Given the description of an element on the screen output the (x, y) to click on. 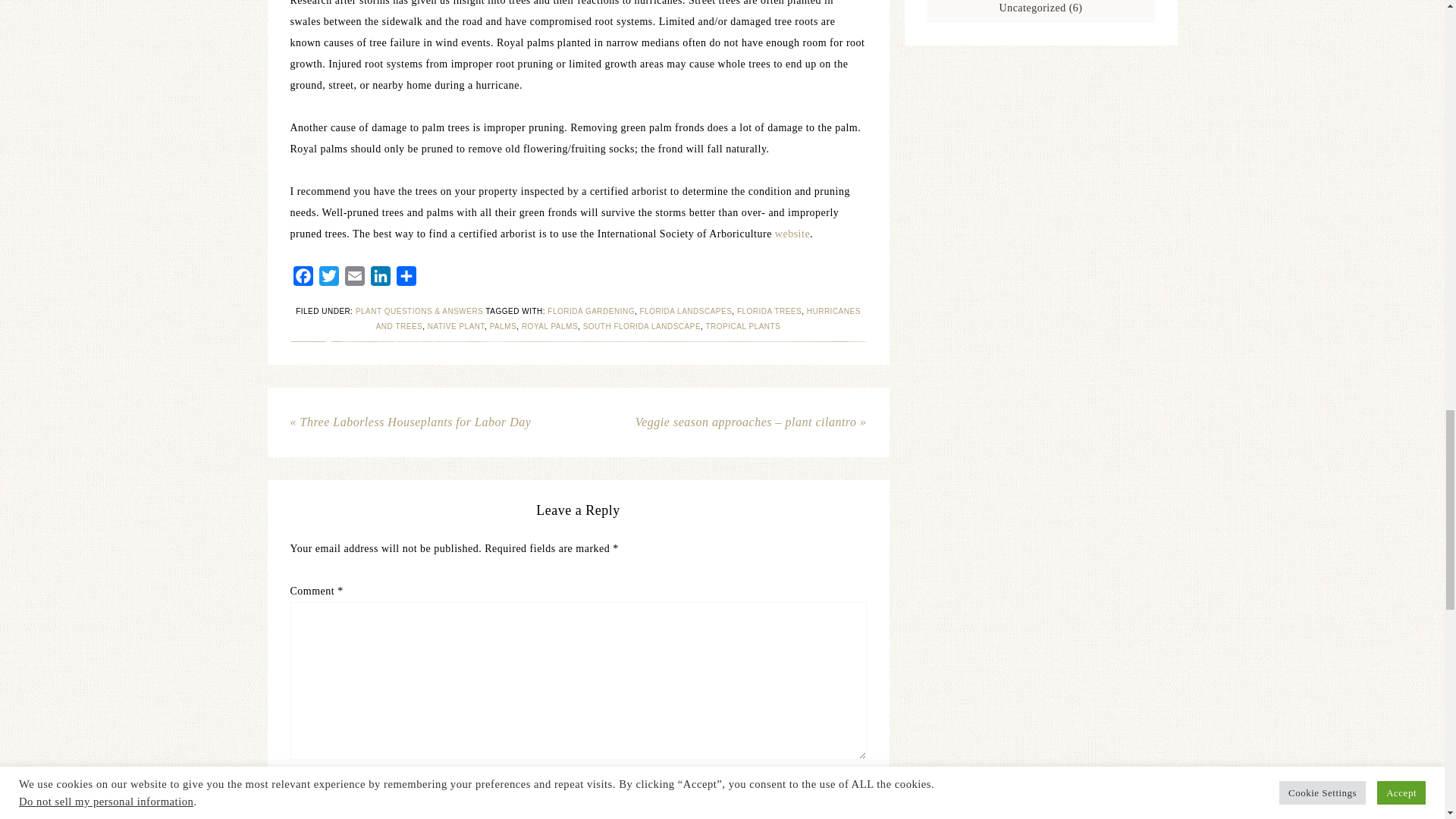
Facebook (302, 278)
PALMS (502, 326)
ROYAL PALMS (549, 326)
FLORIDA GARDENING (590, 311)
website (791, 233)
NATIVE PLANT (456, 326)
FLORIDA LANDSCAPES (686, 311)
Twitter (327, 278)
TROPICAL PLANTS (742, 326)
Email (353, 278)
Email (353, 278)
LinkedIn (379, 278)
HURRICANES AND TREES (617, 318)
Facebook (302, 278)
Twitter (327, 278)
